Given the description of an element on the screen output the (x, y) to click on. 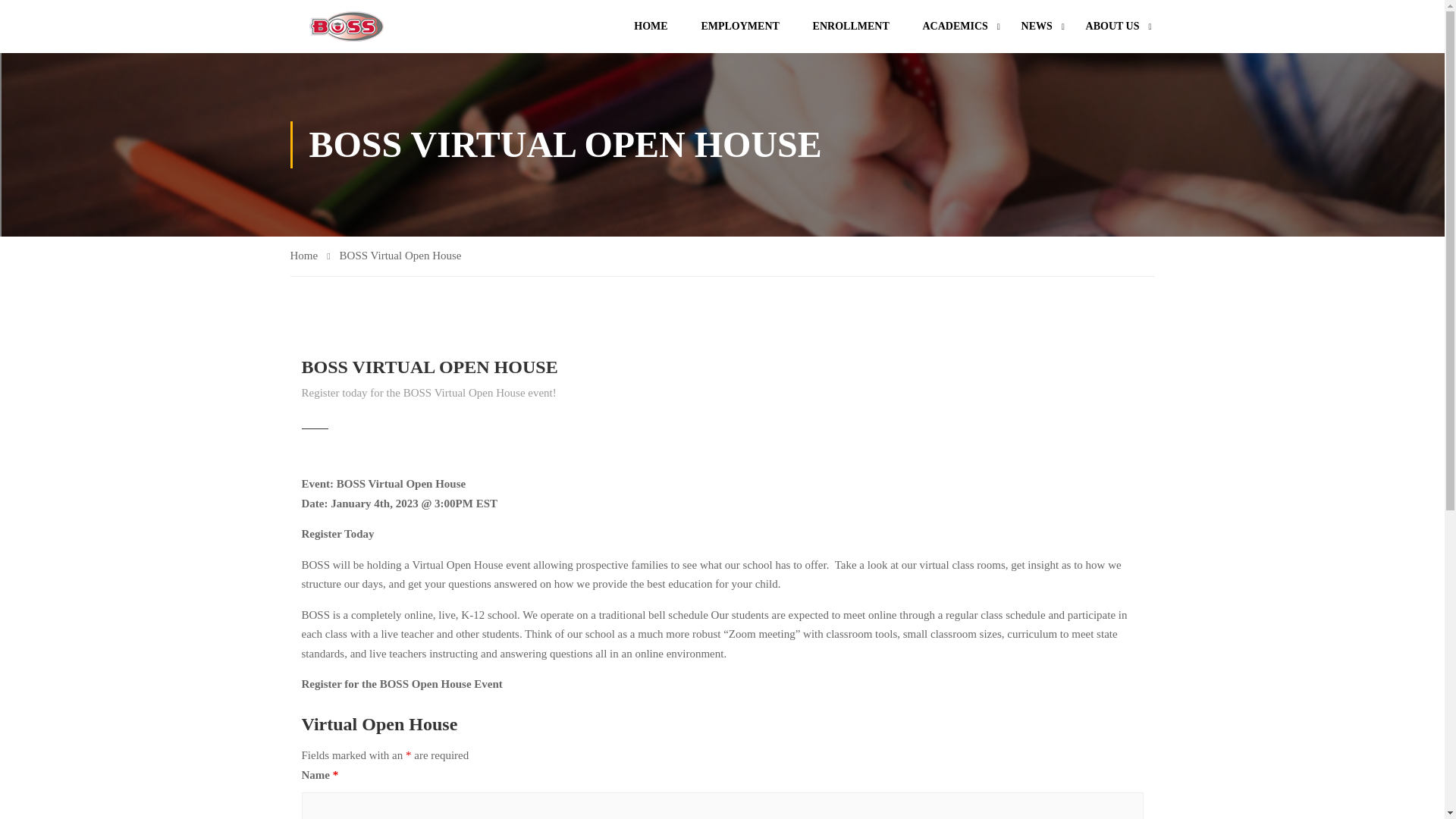
HOME (650, 26)
ENROLLMENT (850, 26)
ACADEMICS (955, 26)
EMPLOYMENT (739, 26)
